Given the description of an element on the screen output the (x, y) to click on. 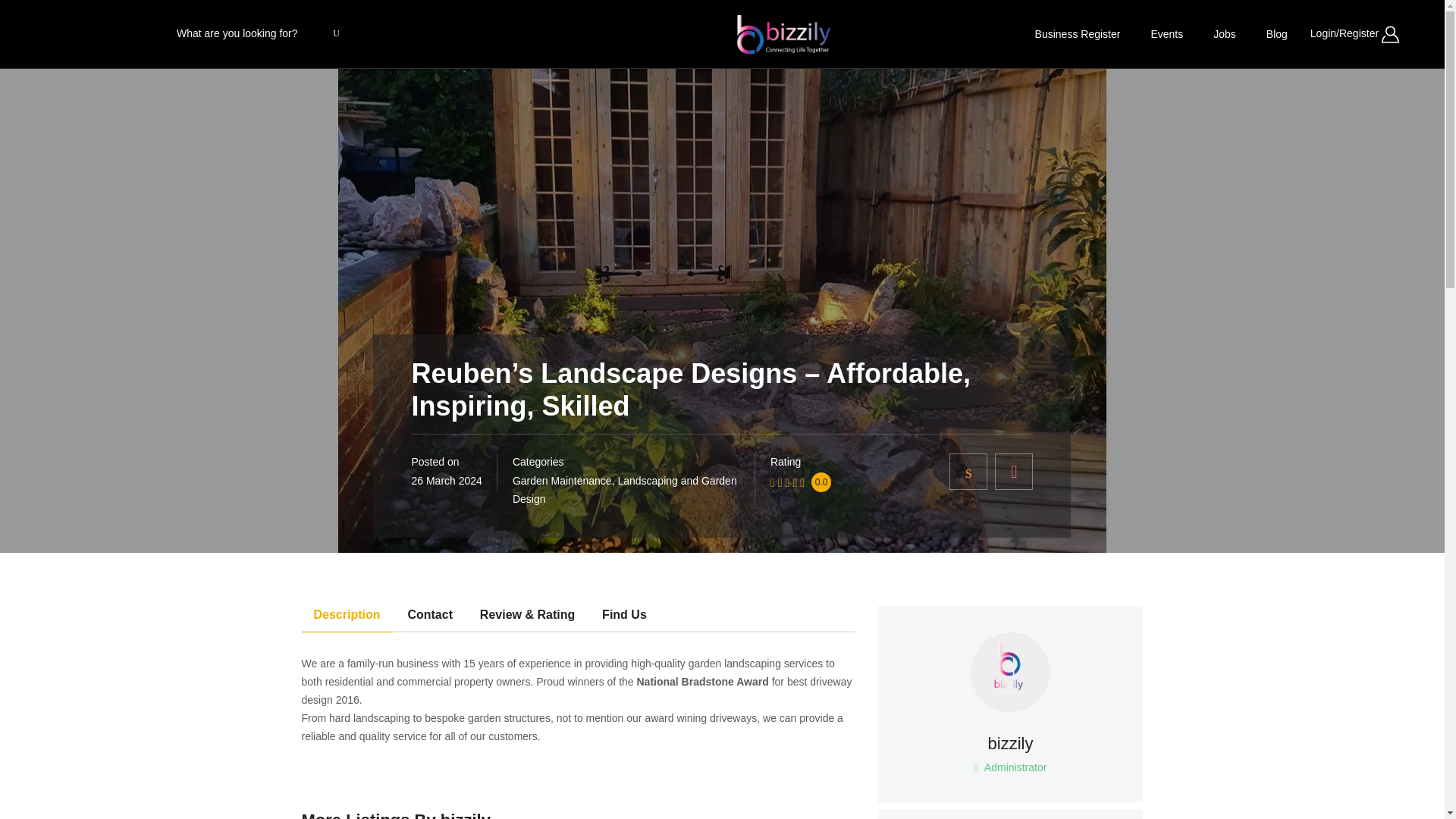
Find Us (624, 618)
Events (1166, 33)
Landscaping and Garden Design (624, 490)
Contact (429, 618)
Garden Maintenance (561, 480)
Business Register (1077, 33)
Description (1010, 741)
